Given the description of an element on the screen output the (x, y) to click on. 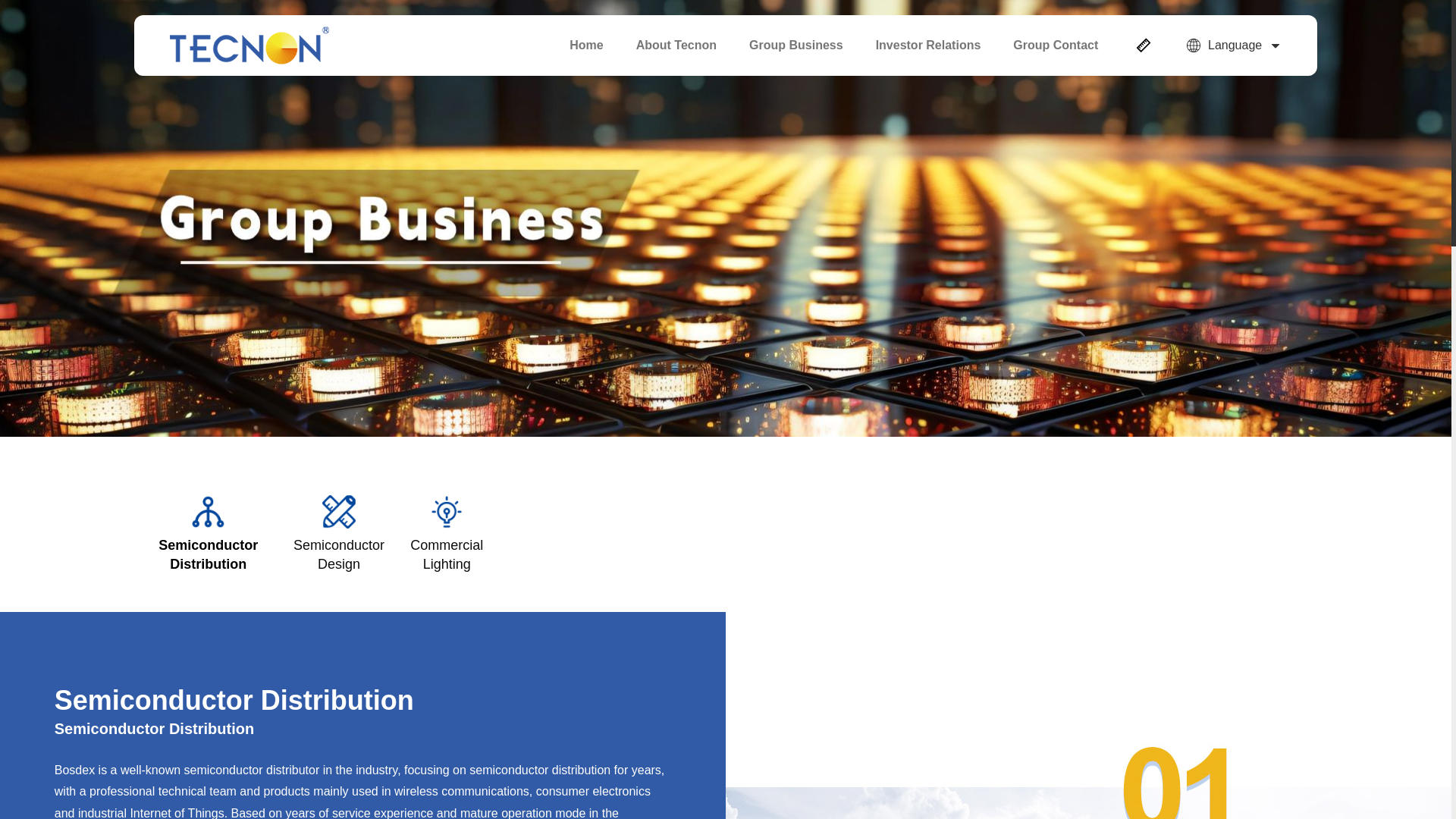
About Tecnon (676, 45)
Commercial Lighting (446, 541)
TECNON (249, 45)
Investor Relations (928, 45)
Group Business (796, 45)
Semiconductor Distribution (207, 541)
Group Contact (1056, 45)
Semiconductor Design (338, 541)
Home (586, 45)
